Given the description of an element on the screen output the (x, y) to click on. 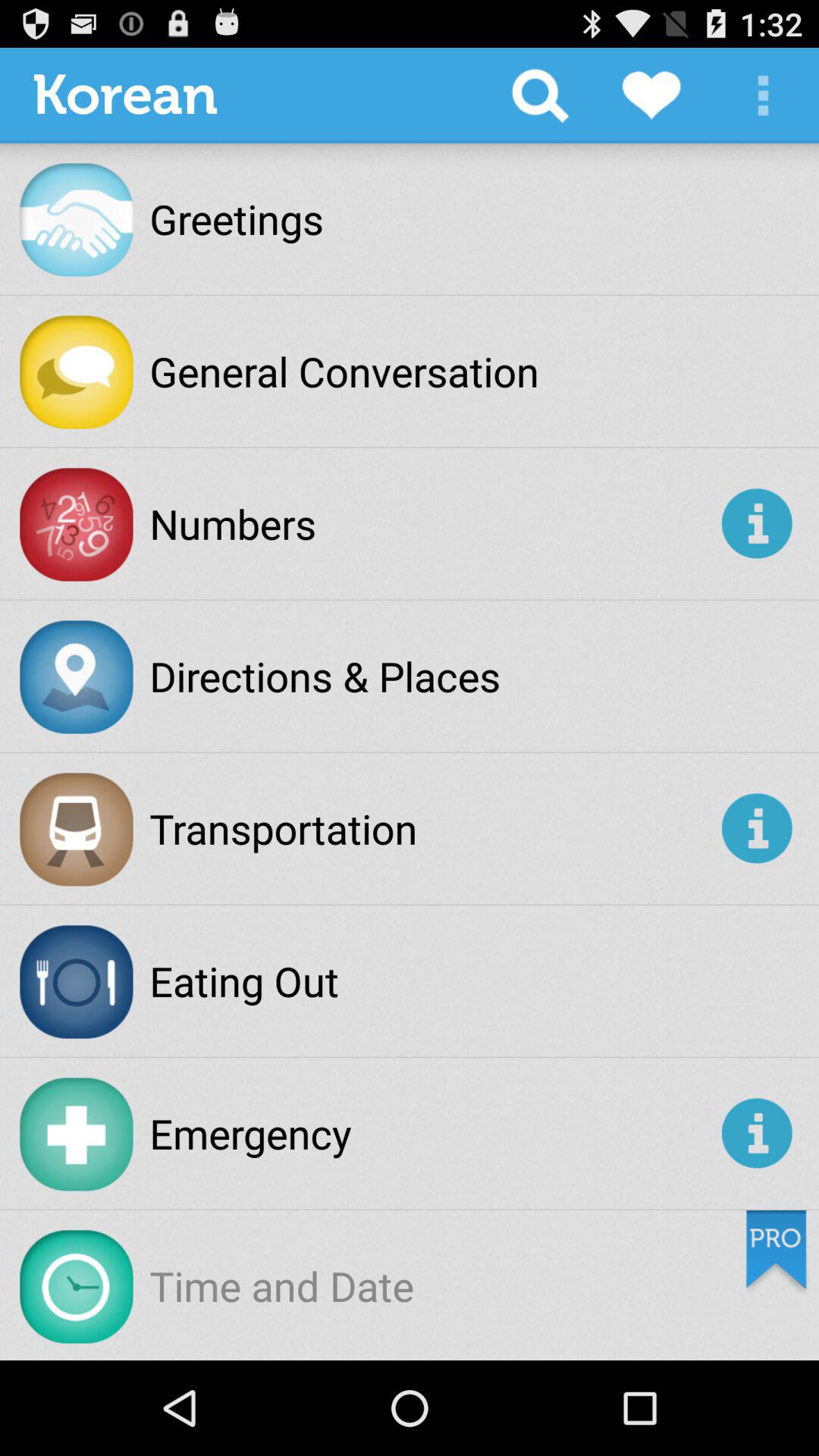
turn on transportation (432, 827)
